Given the description of an element on the screen output the (x, y) to click on. 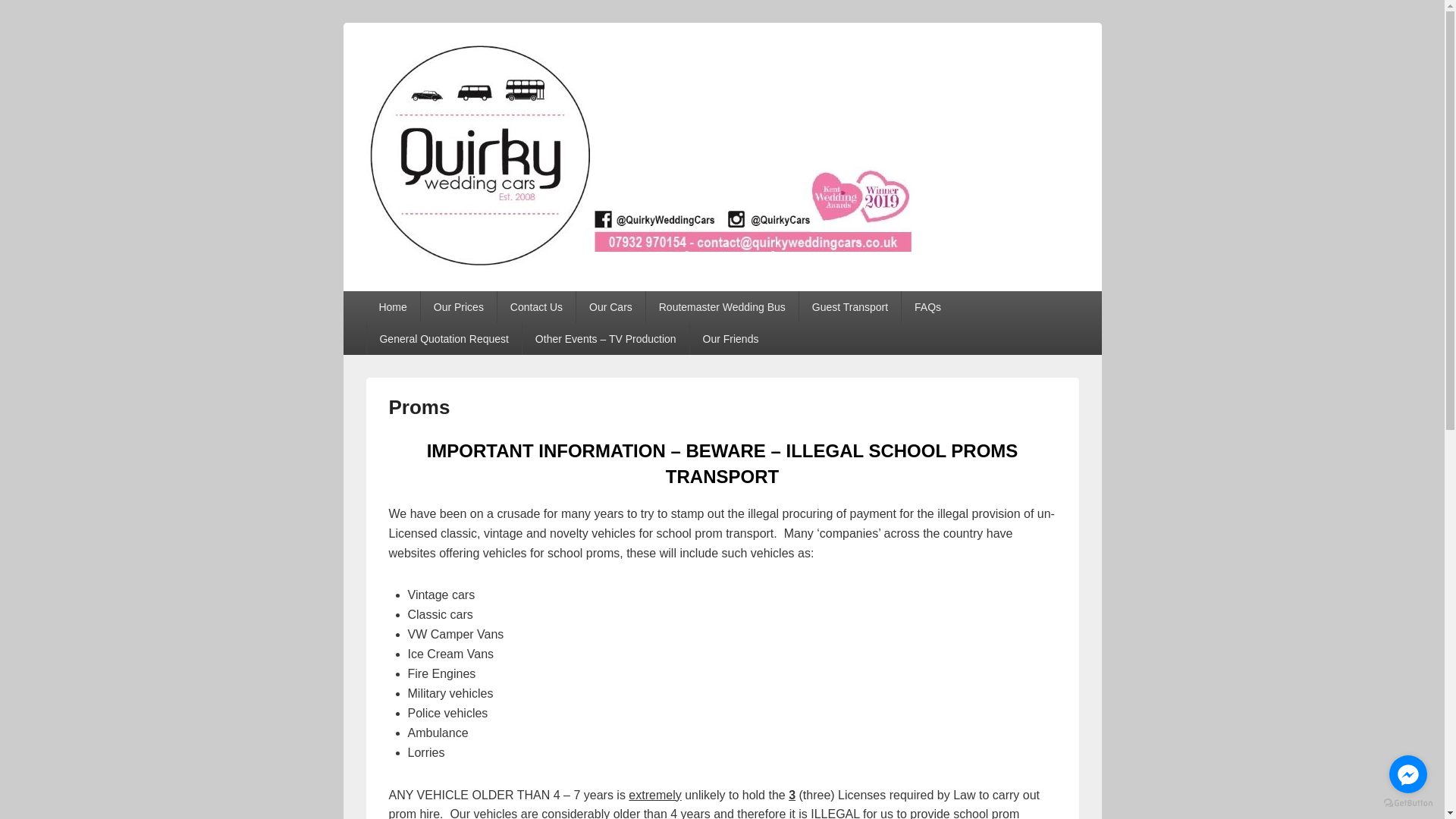
Our Friends (730, 338)
Quirky Wedding Cars (503, 285)
Our Cars (610, 306)
Home (392, 306)
Guest Transport (850, 306)
General Quotation Request (443, 338)
FAQs (927, 306)
Our Prices (458, 306)
Contact Us (536, 306)
Routemaster Wedding Bus (721, 306)
